Given the description of an element on the screen output the (x, y) to click on. 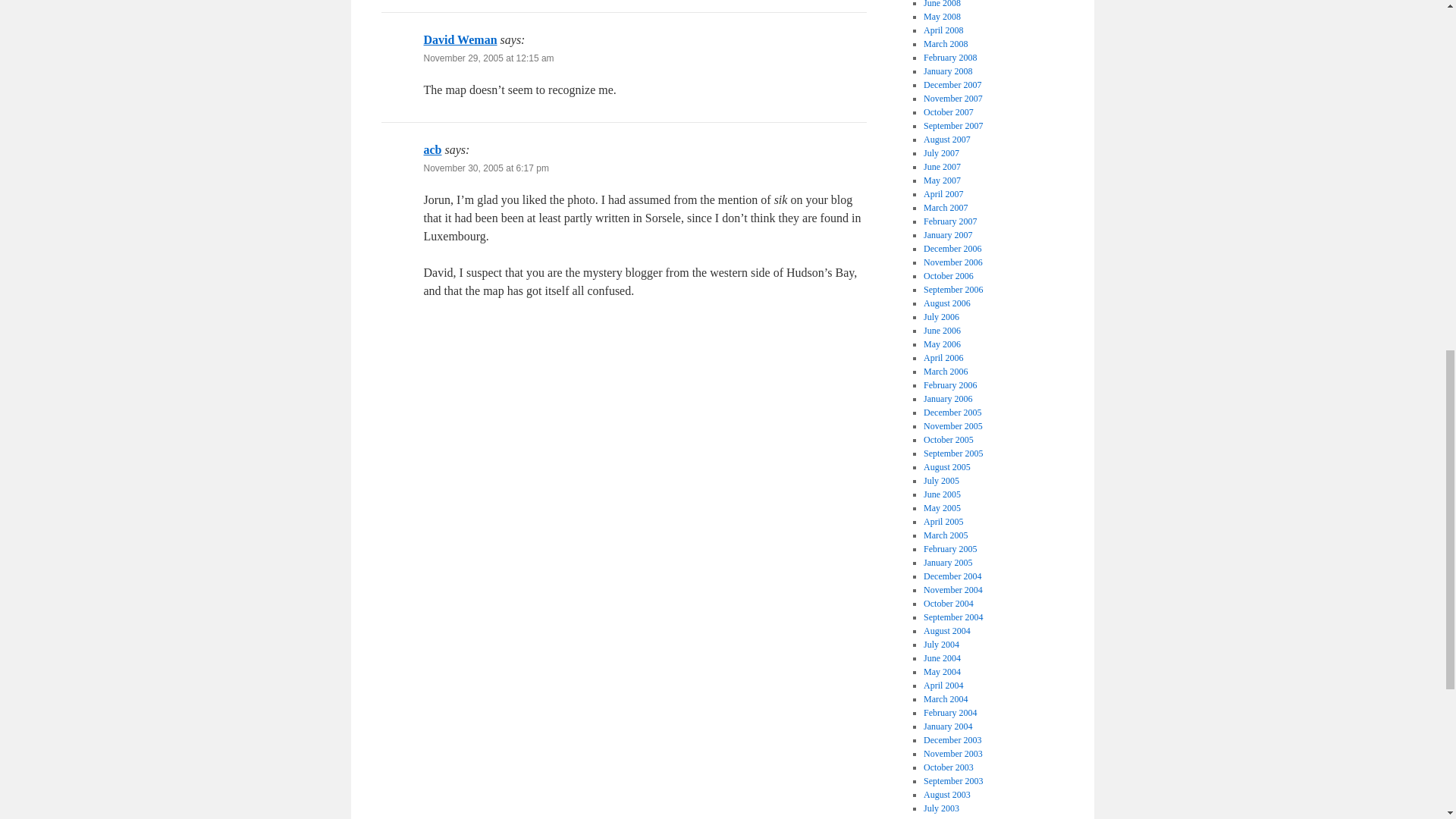
November 29, 2005 at 12:15 am (488, 58)
acb (432, 149)
November 30, 2005 at 6:17 pm (485, 167)
David Weman (459, 39)
